Given the description of an element on the screen output the (x, y) to click on. 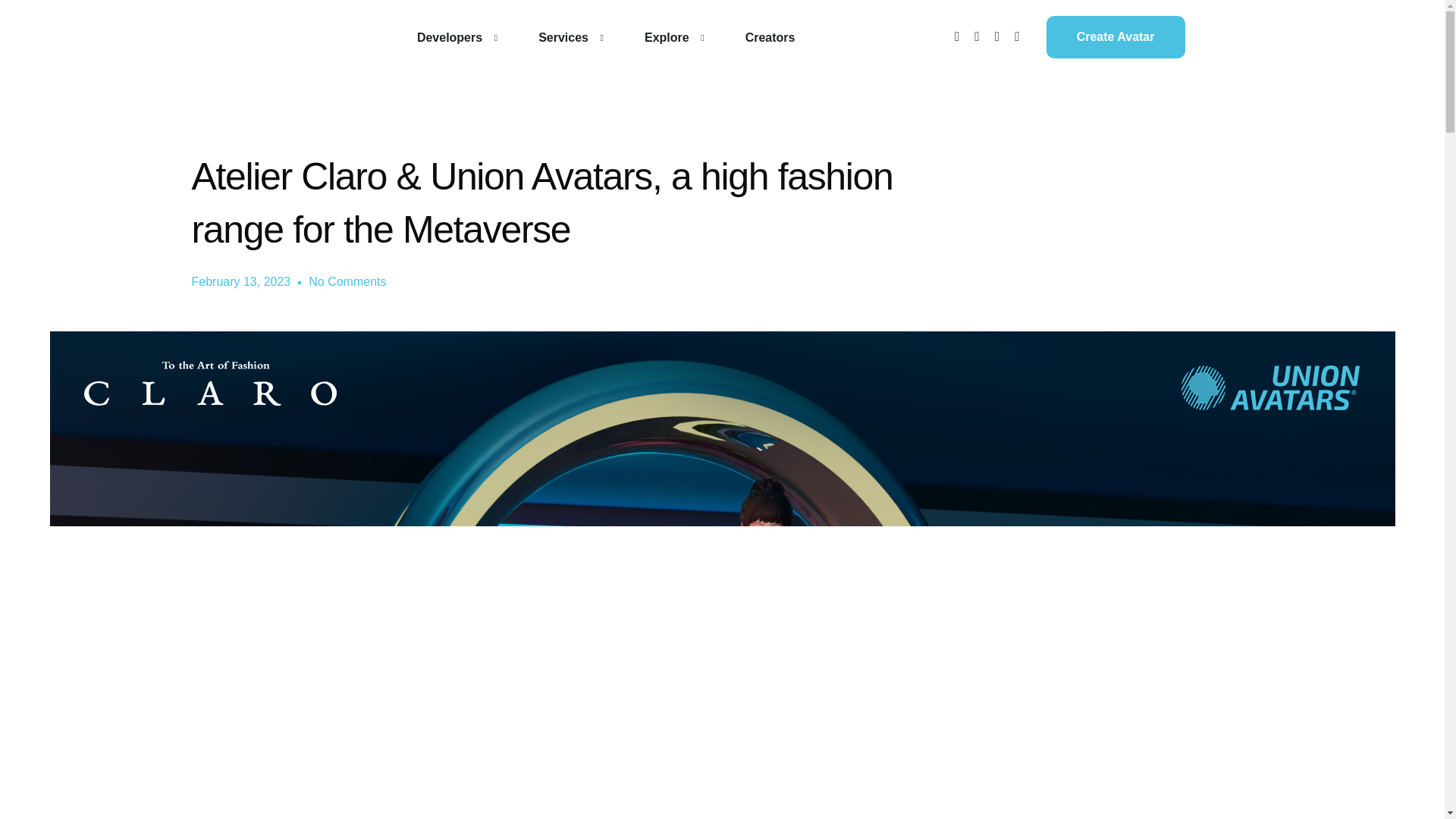
Creators (769, 37)
No Comments (346, 282)
February 13, 2023 (239, 282)
Create Avatar (1115, 36)
Explore (670, 37)
Developers (453, 37)
Services (566, 37)
